Given the description of an element on the screen output the (x, y) to click on. 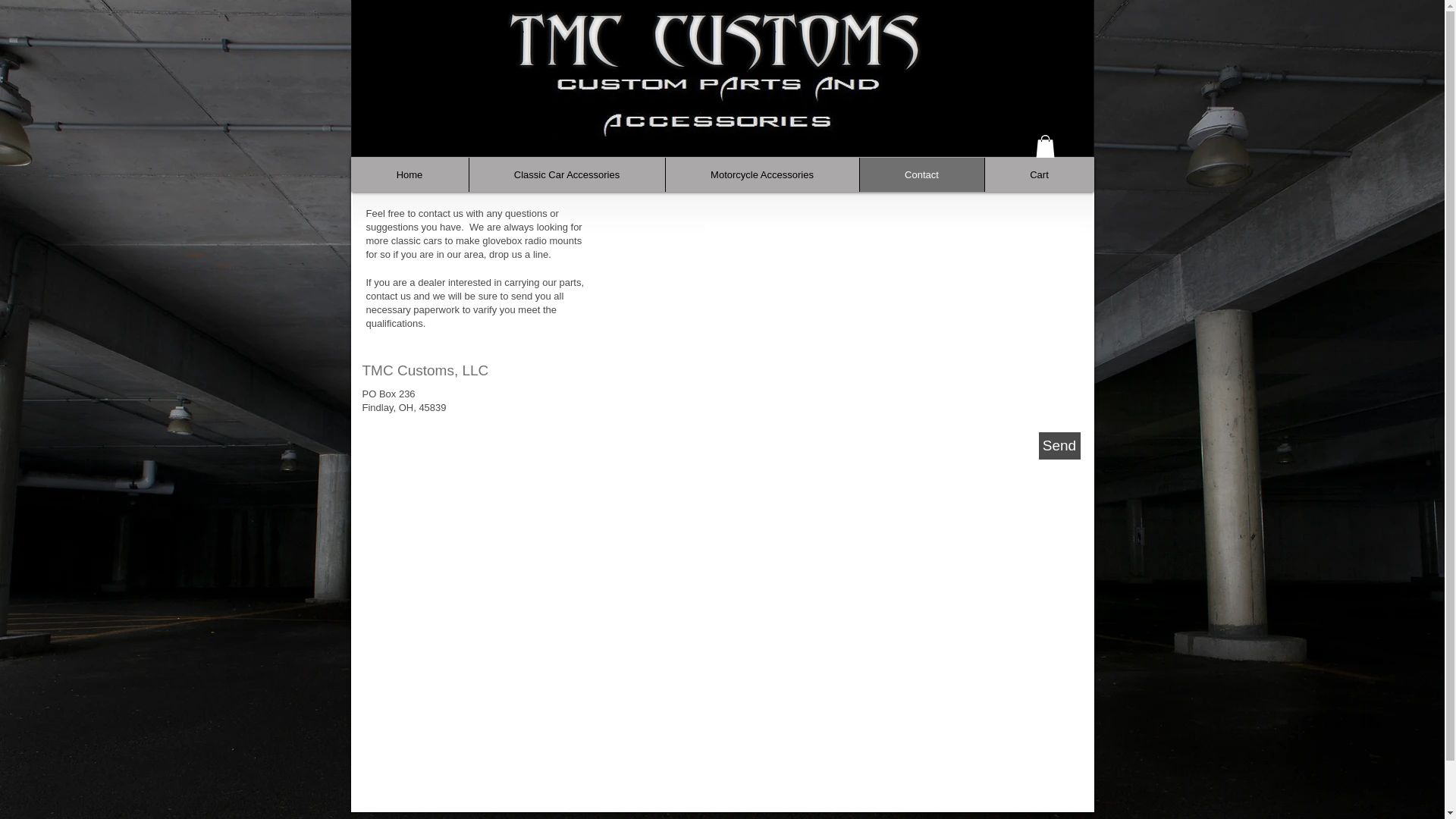
Classic Car Accessories (566, 174)
Send (1059, 445)
Contact (921, 174)
Motorcycle Accessories (761, 174)
Home (408, 174)
Cart (1039, 174)
